Given the description of an element on the screen output the (x, y) to click on. 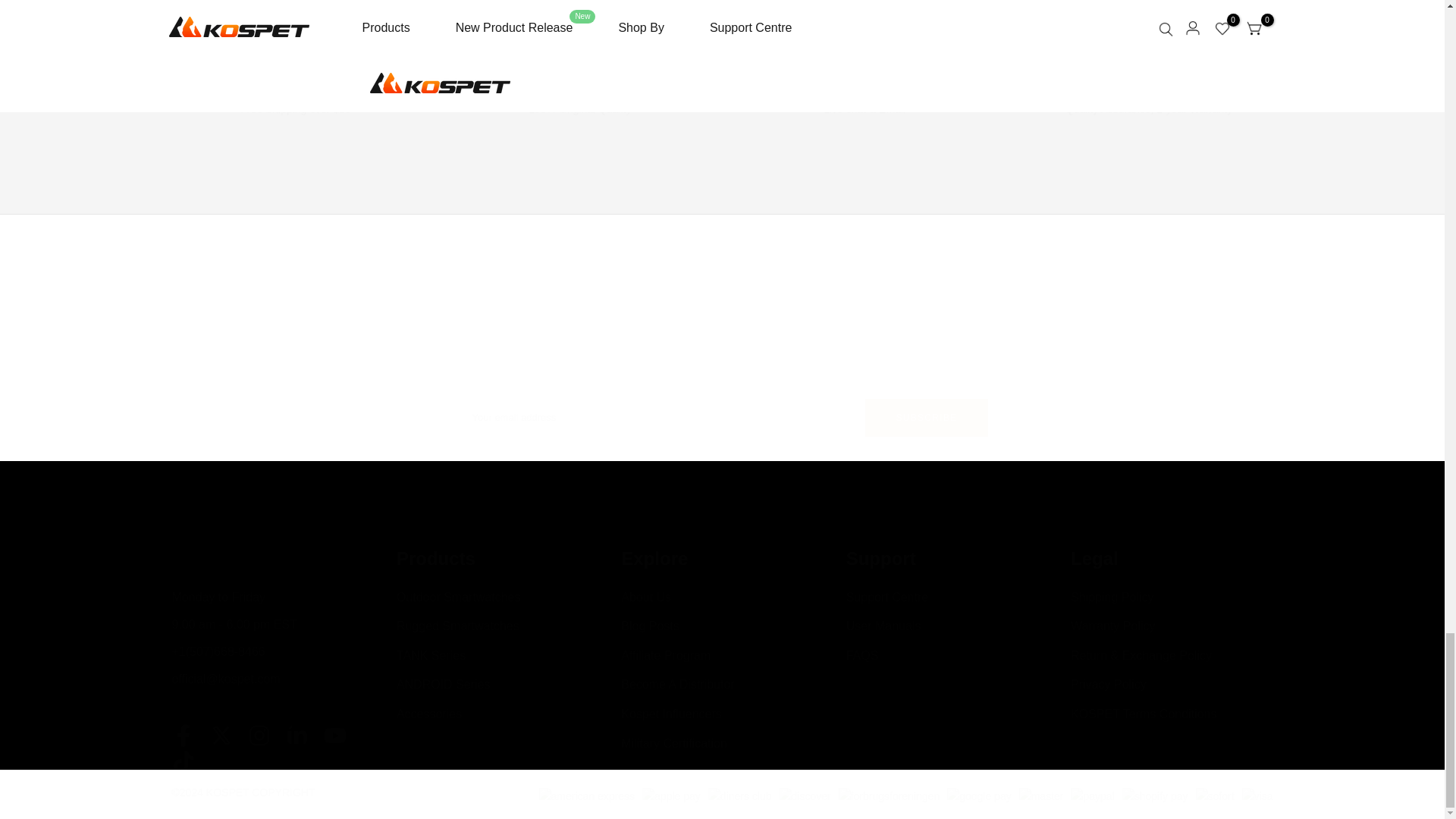
Follow on Twitter (220, 734)
Follow on Linkedin (296, 734)
Follow on Instagram (258, 734)
Follow on Tiktok (182, 762)
Follow on YouTube (334, 734)
Follow on Facebook (182, 734)
